Given the description of an element on the screen output the (x, y) to click on. 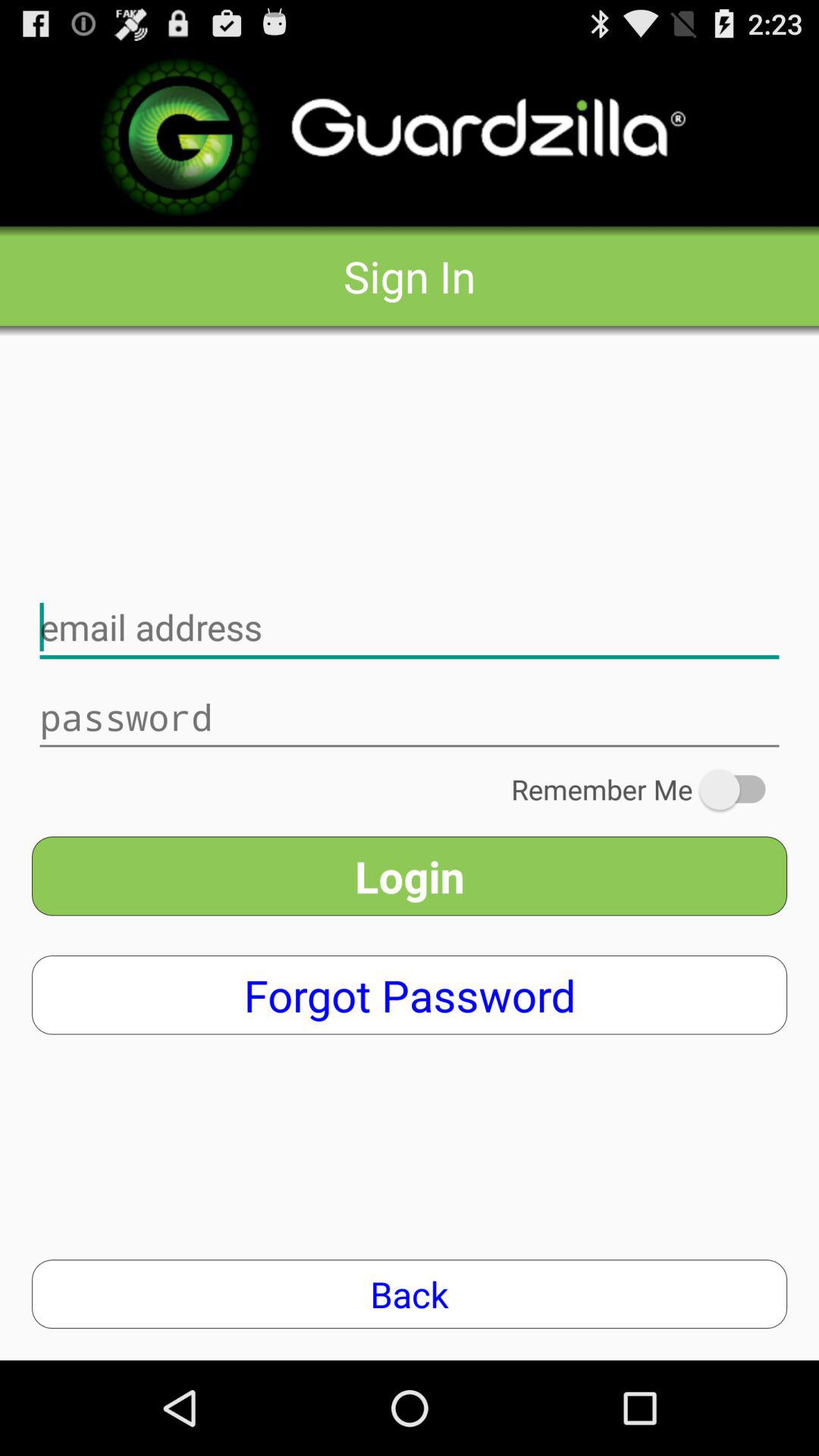
press forgot password app (409, 994)
